Given the description of an element on the screen output the (x, y) to click on. 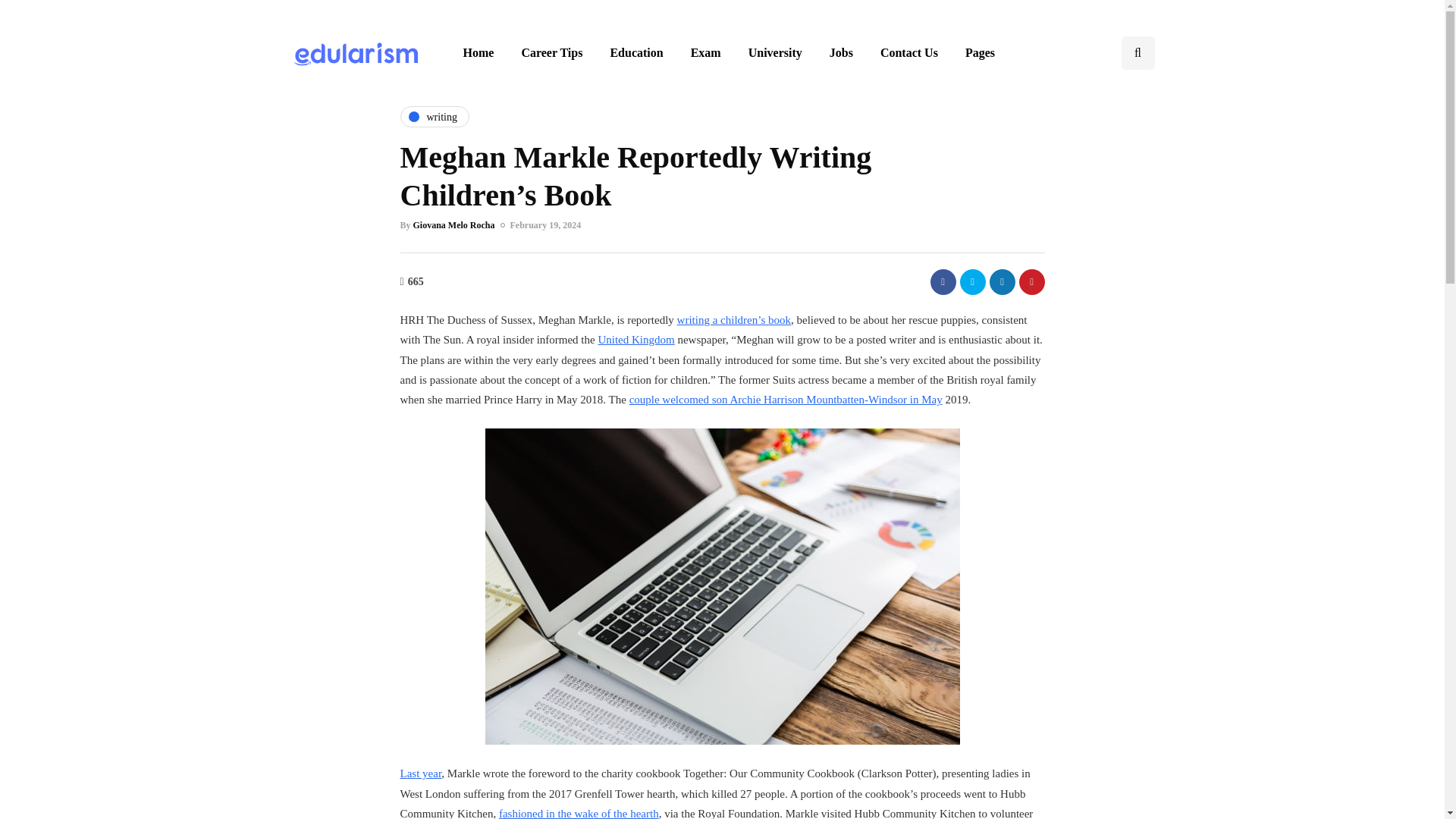
Career Tips (550, 52)
Jobs (840, 52)
Pin this (1032, 281)
Tweet this (972, 281)
Pages (980, 52)
Share with Facebook (942, 281)
Home (477, 52)
Contact Us (909, 52)
Exam (706, 52)
Posts by Giovana Melo Rocha (454, 225)
Share with LinkedIn (1001, 281)
University (775, 52)
Education (636, 52)
